Given the description of an element on the screen output the (x, y) to click on. 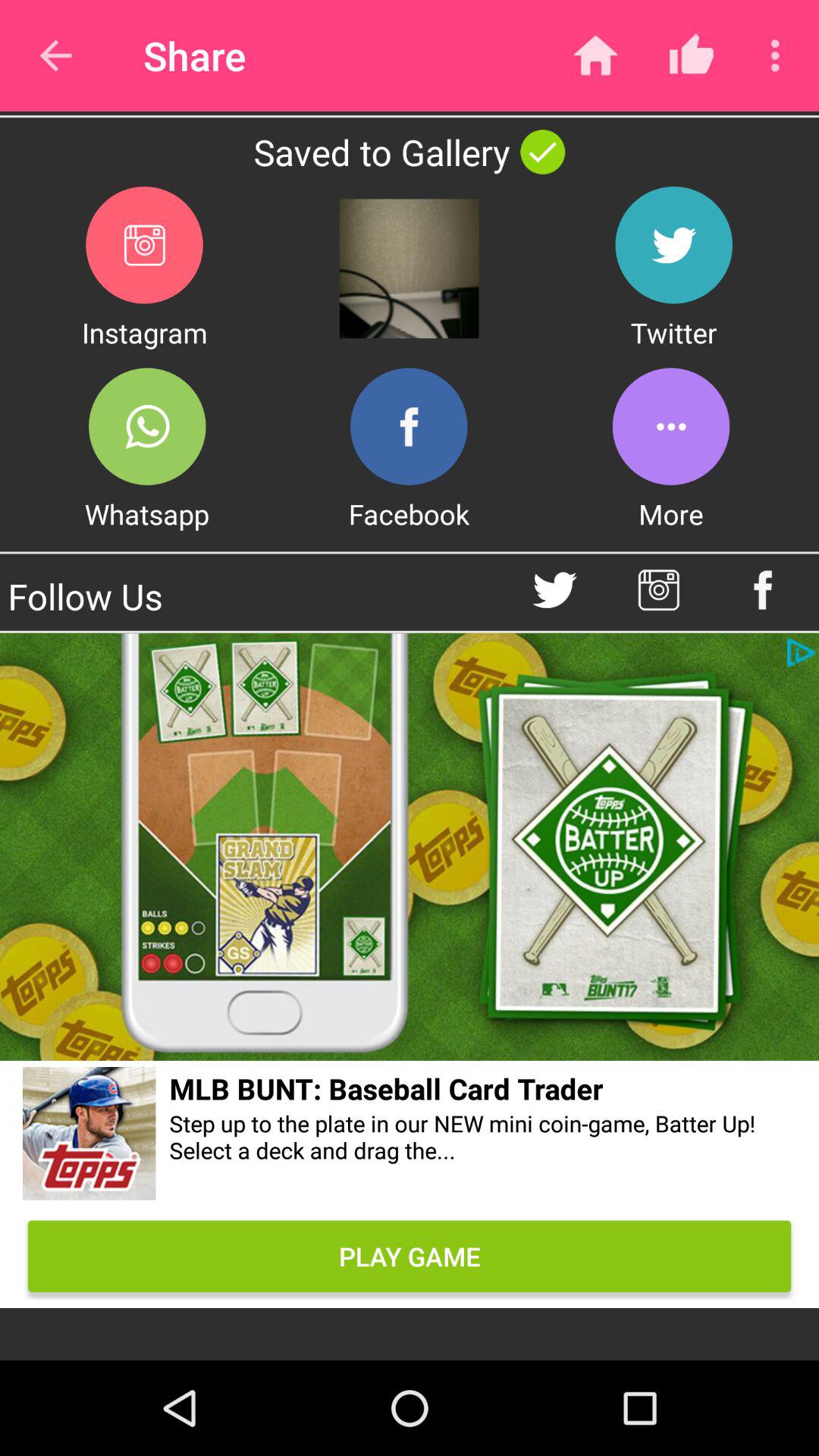
select more menu (670, 426)
